Given the description of an element on the screen output the (x, y) to click on. 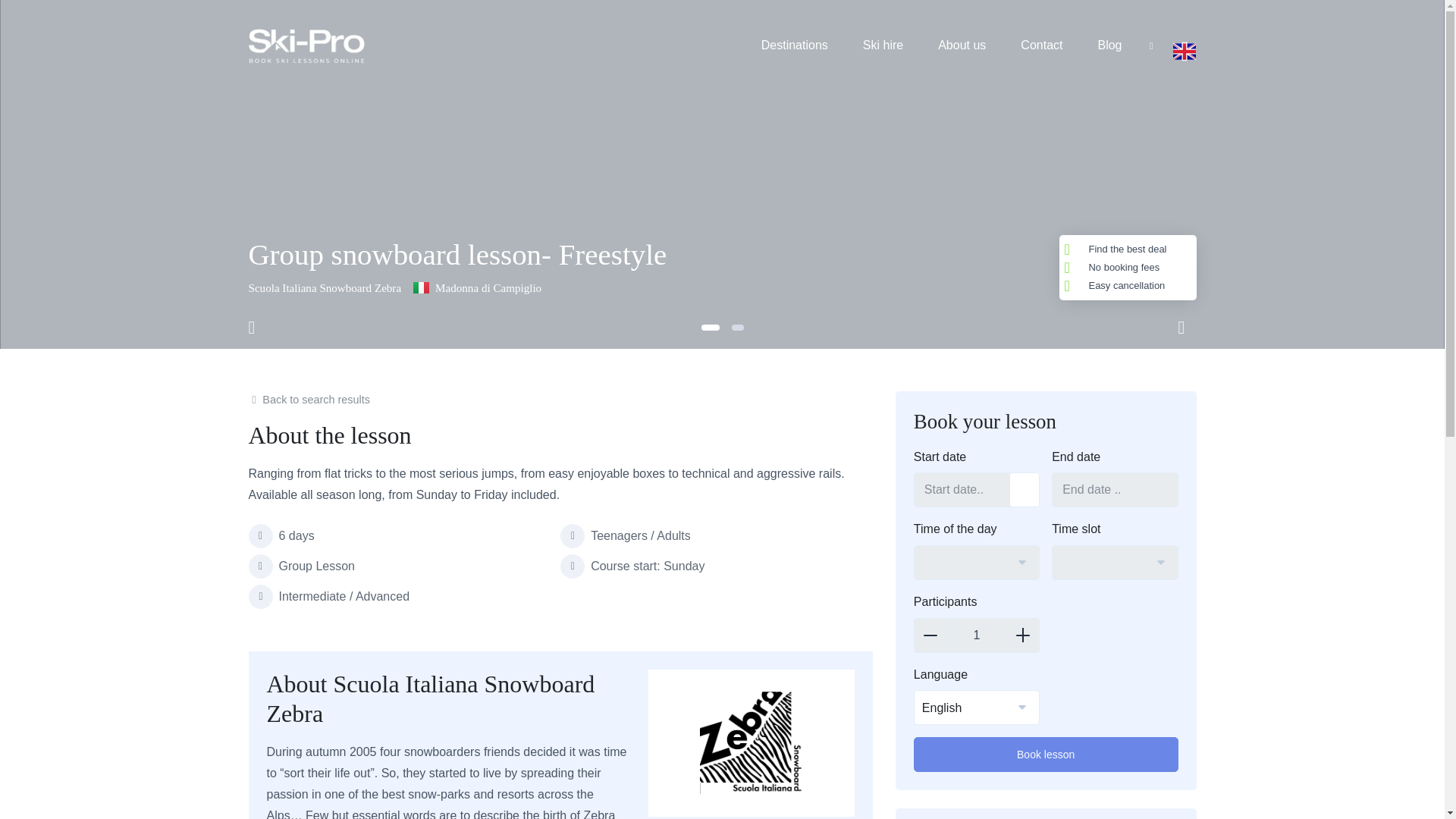
Back to search results (308, 399)
Destinations (794, 46)
English (976, 708)
About us (961, 46)
Book lesson (1045, 754)
Blog (1109, 46)
Contact (1041, 46)
1 (976, 635)
Ski hire (882, 46)
